Given the description of an element on the screen output the (x, y) to click on. 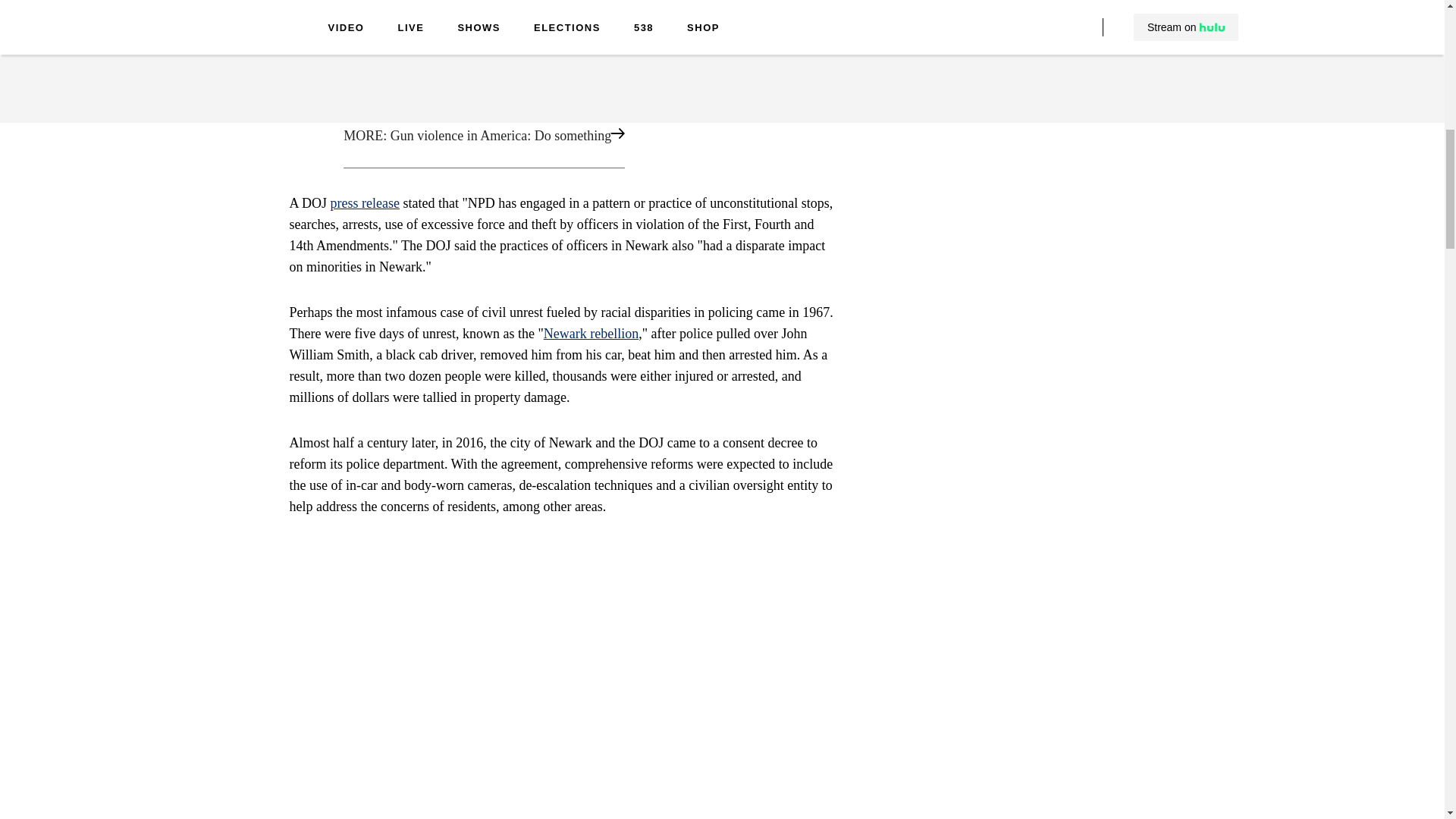
press release (364, 202)
MORE: Gun violence in America: Do something (560, 137)
Newark rebellion (591, 333)
49-page report (511, 49)
